Given the description of an element on the screen output the (x, y) to click on. 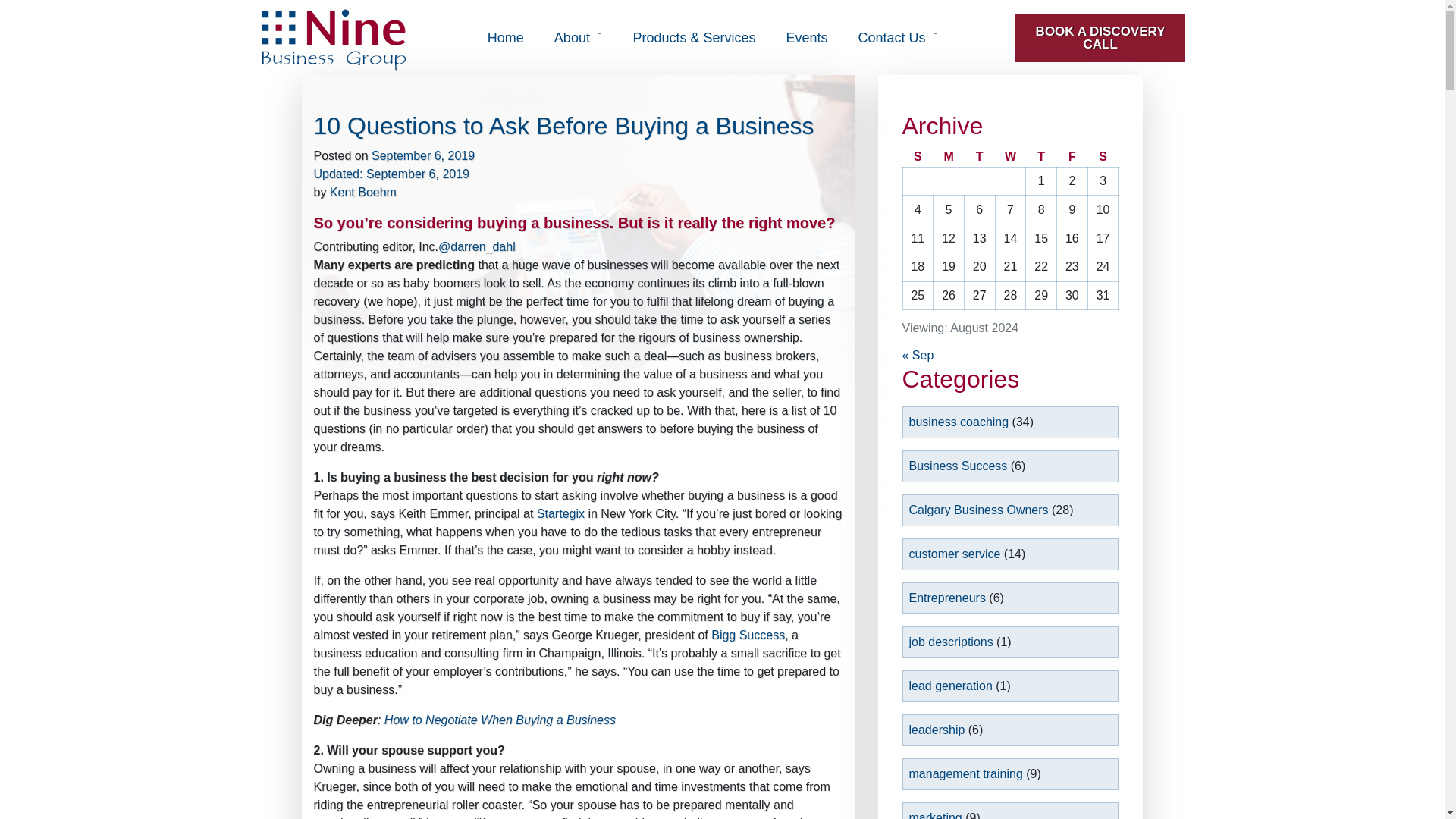
Sunday (917, 157)
Friday (1072, 157)
Kent Boehm (363, 192)
Events (807, 37)
10 Questions to Ask Before Buying a Business (563, 125)
Contact Us (898, 37)
Bigg Success (747, 634)
Monday (948, 157)
Startegix (561, 513)
Wednesday (1010, 157)
